Given the description of an element on the screen output the (x, y) to click on. 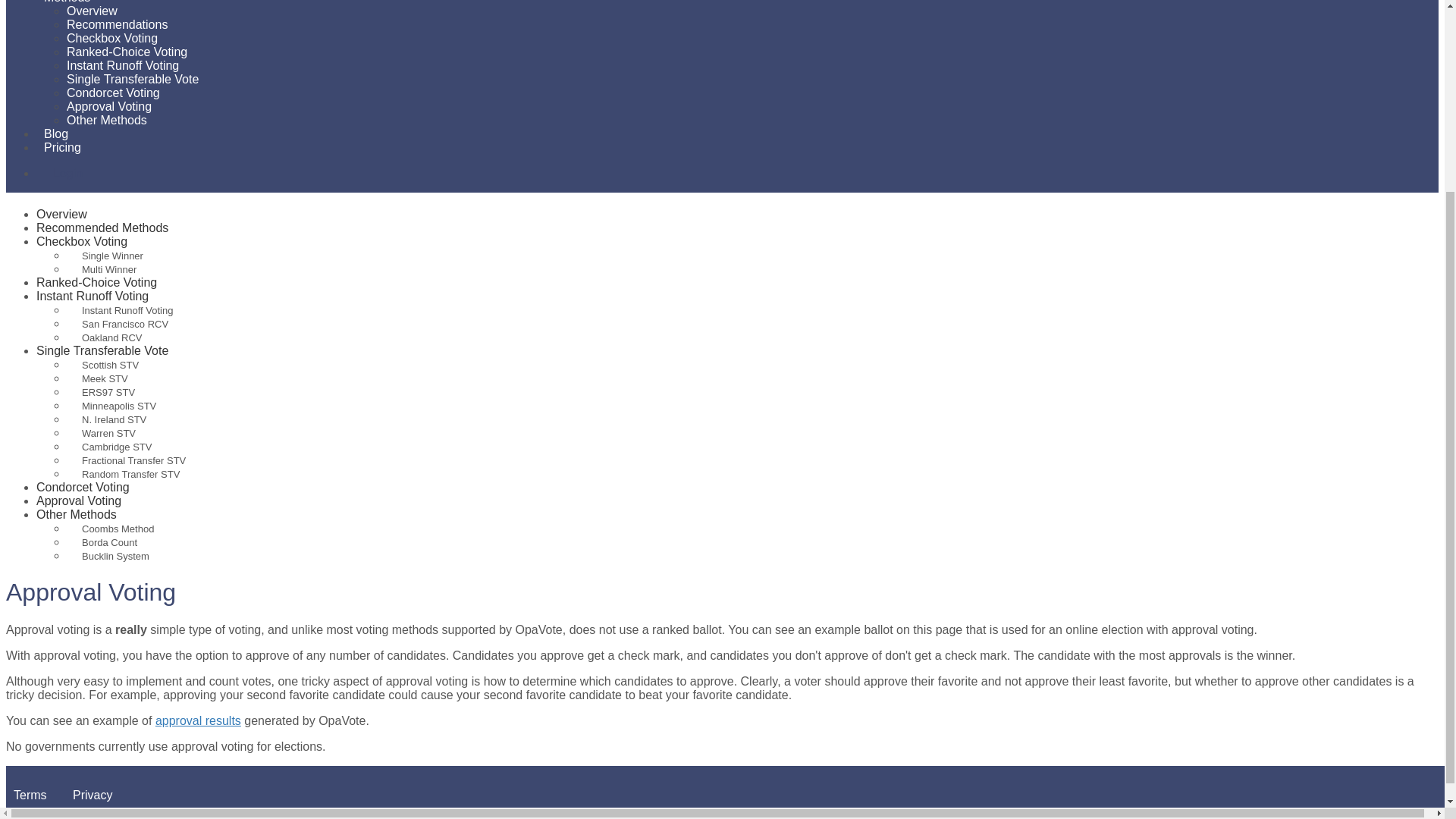
Pricing (62, 147)
ERS97 STV (100, 391)
Checkbox Voting (82, 240)
Instant Runoff Voting (122, 65)
Instant Runoff Voting (119, 309)
Single Transferable Vote (132, 78)
Overview (61, 213)
Multi Winner (101, 269)
Oakland RCV (103, 337)
Methods (66, 7)
San Francisco RCV (117, 323)
Instant Runoff Voting (92, 295)
Checkbox Voting (111, 38)
Login (67, 173)
Meek STV (97, 378)
